Given the description of an element on the screen output the (x, y) to click on. 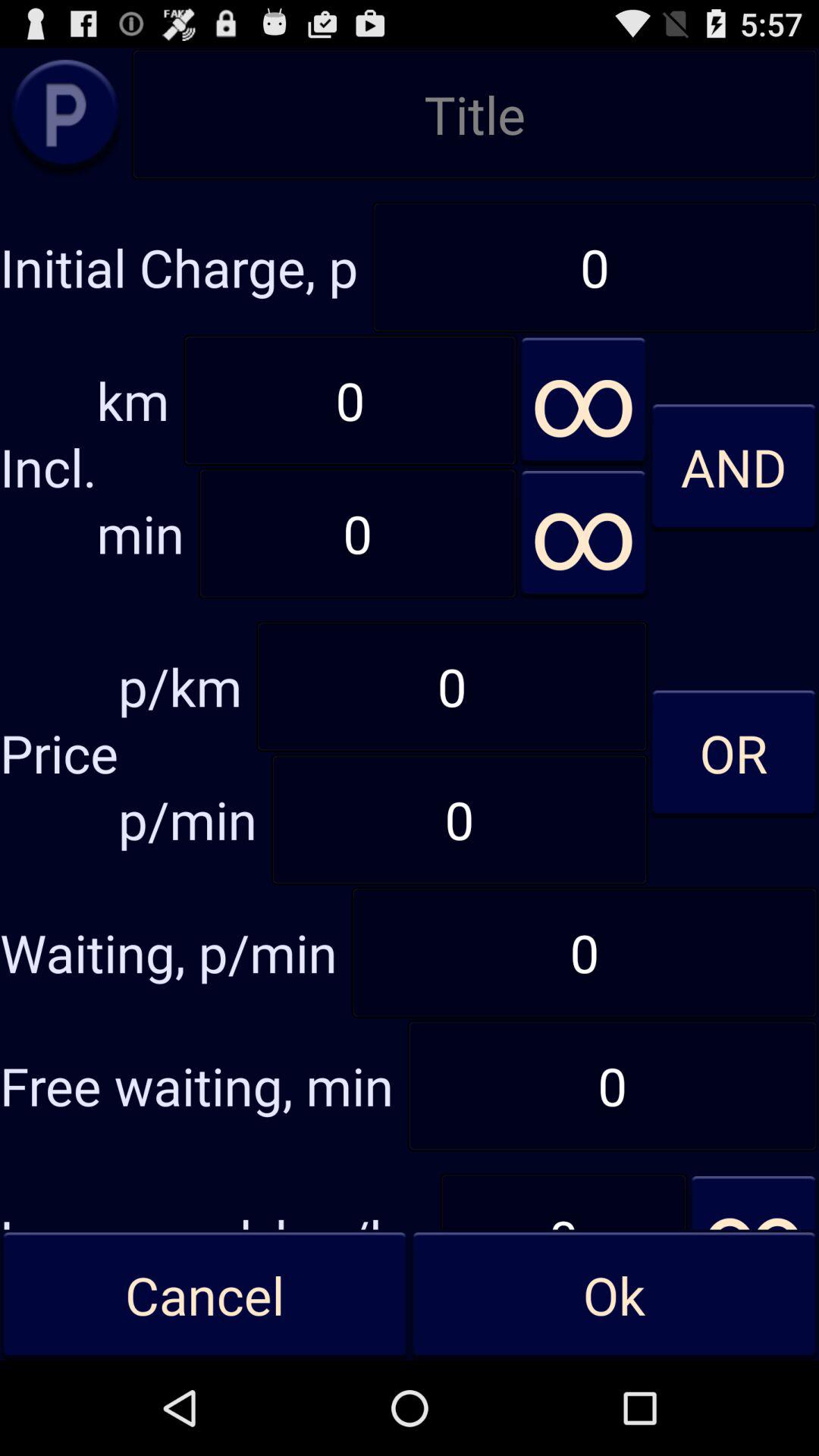
go back to home screen (65, 113)
